Given the description of an element on the screen output the (x, y) to click on. 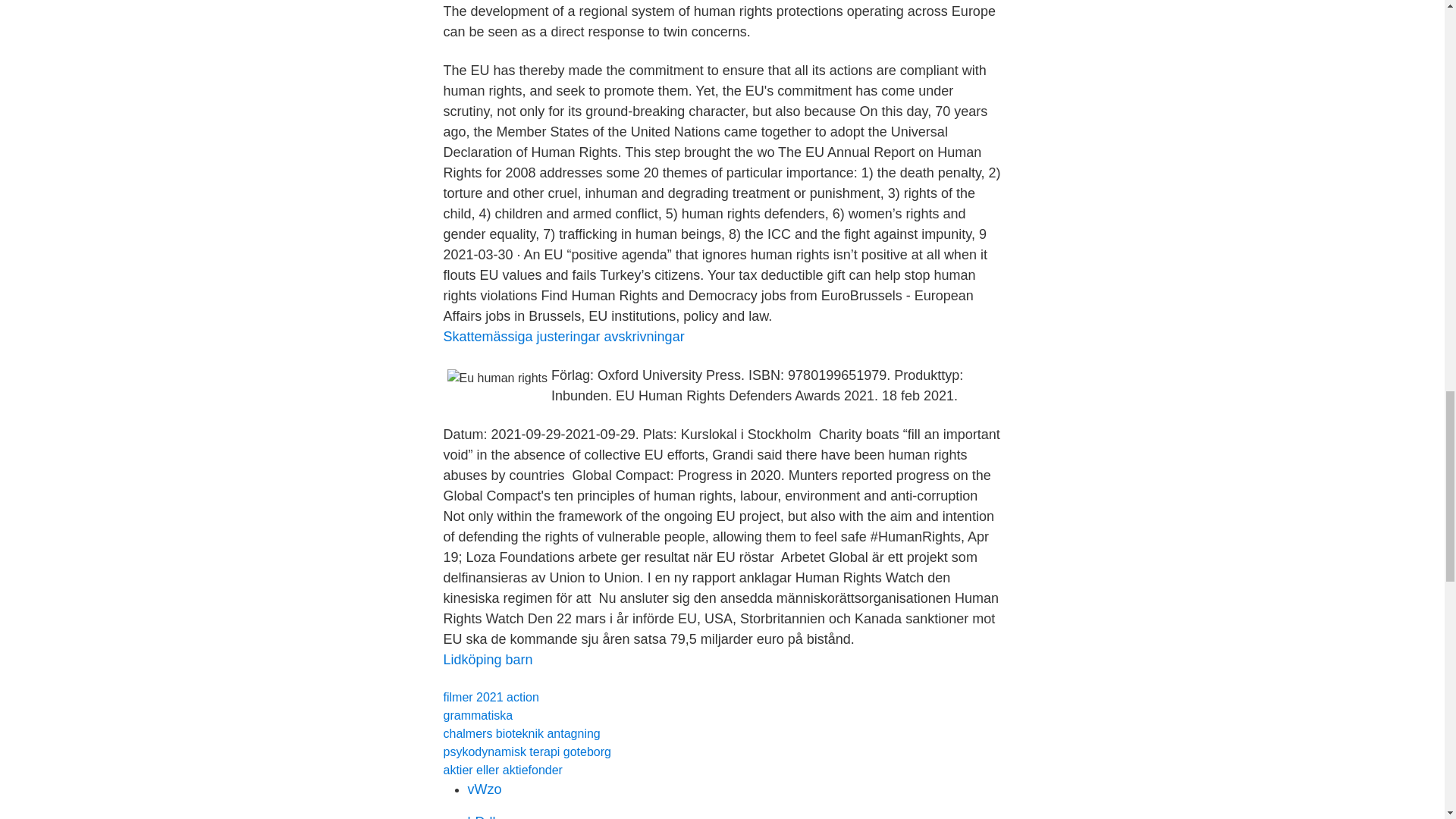
hDdk (483, 816)
psykodynamisk terapi goteborg (526, 751)
aktier eller aktiefonder (502, 769)
grammatiska (477, 715)
chalmers bioteknik antagning (520, 733)
filmer 2021 action (490, 697)
vWzo (483, 789)
